Given the description of an element on the screen output the (x, y) to click on. 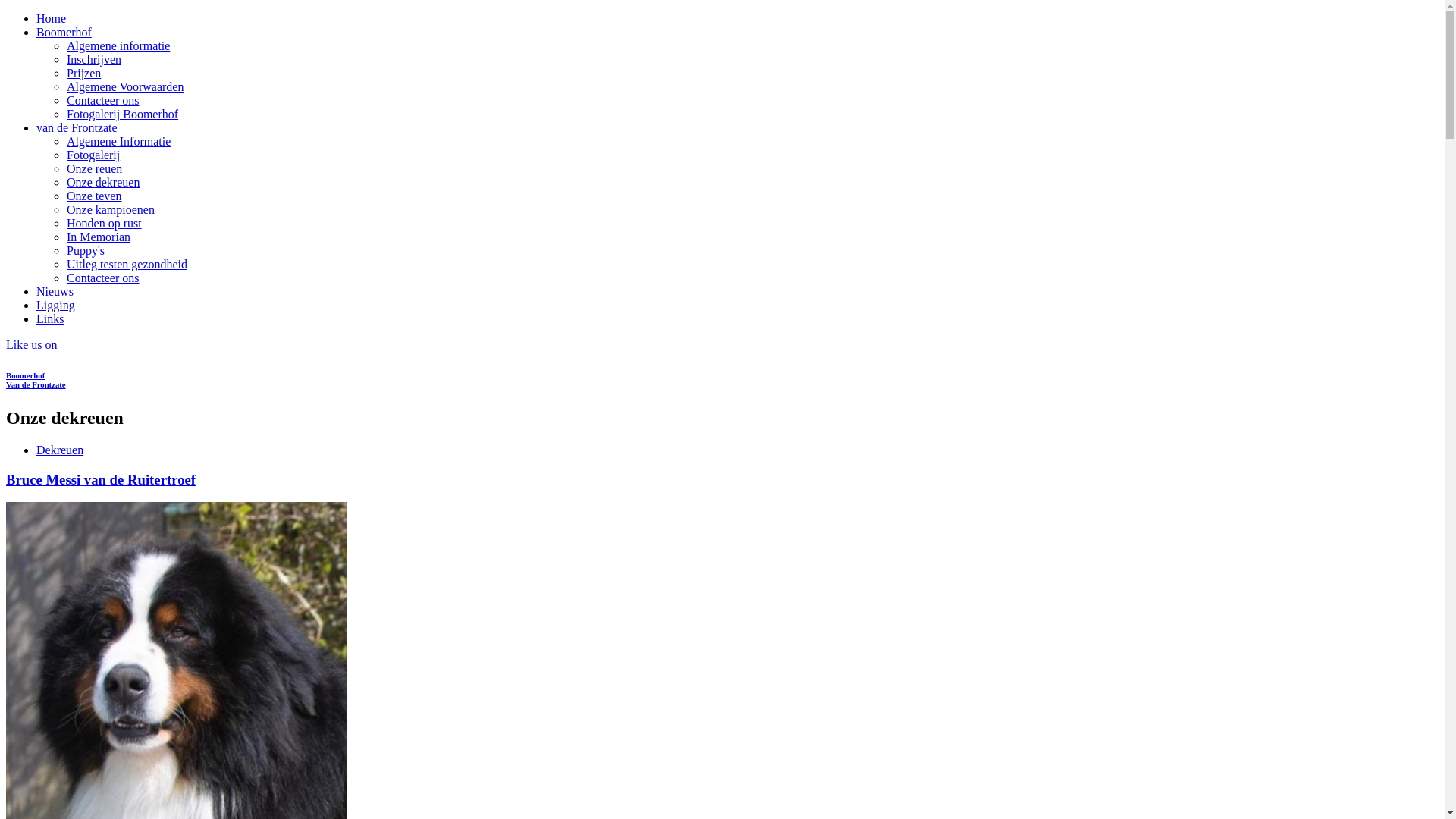
Home Element type: text (50, 18)
Fotogalerij Boomerhof Element type: text (122, 113)
Algemene informatie Element type: text (117, 45)
Onze dekreuen Element type: text (102, 181)
Uitleg testen gezondheid Element type: text (126, 263)
In Memorian Element type: text (98, 236)
Contacteer ons Element type: text (102, 277)
Like us on  Element type: text (33, 344)
Prijzen Element type: text (83, 72)
Onze reuen Element type: text (94, 168)
Onze kampioenen Element type: text (110, 209)
Boomerhof Element type: text (63, 31)
van de Frontzate Element type: text (76, 127)
Bruce Messi van de Ruitertroef Element type: text (100, 479)
Ligging Element type: text (55, 304)
Onze teven Element type: text (93, 195)
Honden op rust Element type: text (103, 222)
Inschrijven Element type: text (93, 59)
Boomerhof
Van de Frontzate Element type: text (722, 379)
Algemene Informatie Element type: text (118, 140)
Dekreuen Element type: text (59, 449)
Nieuws Element type: text (54, 291)
Links Element type: text (49, 318)
Algemene Voorwaarden Element type: text (124, 86)
Fotogalerij Element type: text (92, 154)
Puppy's Element type: text (85, 250)
Contacteer ons Element type: text (102, 100)
